Given the description of an element on the screen output the (x, y) to click on. 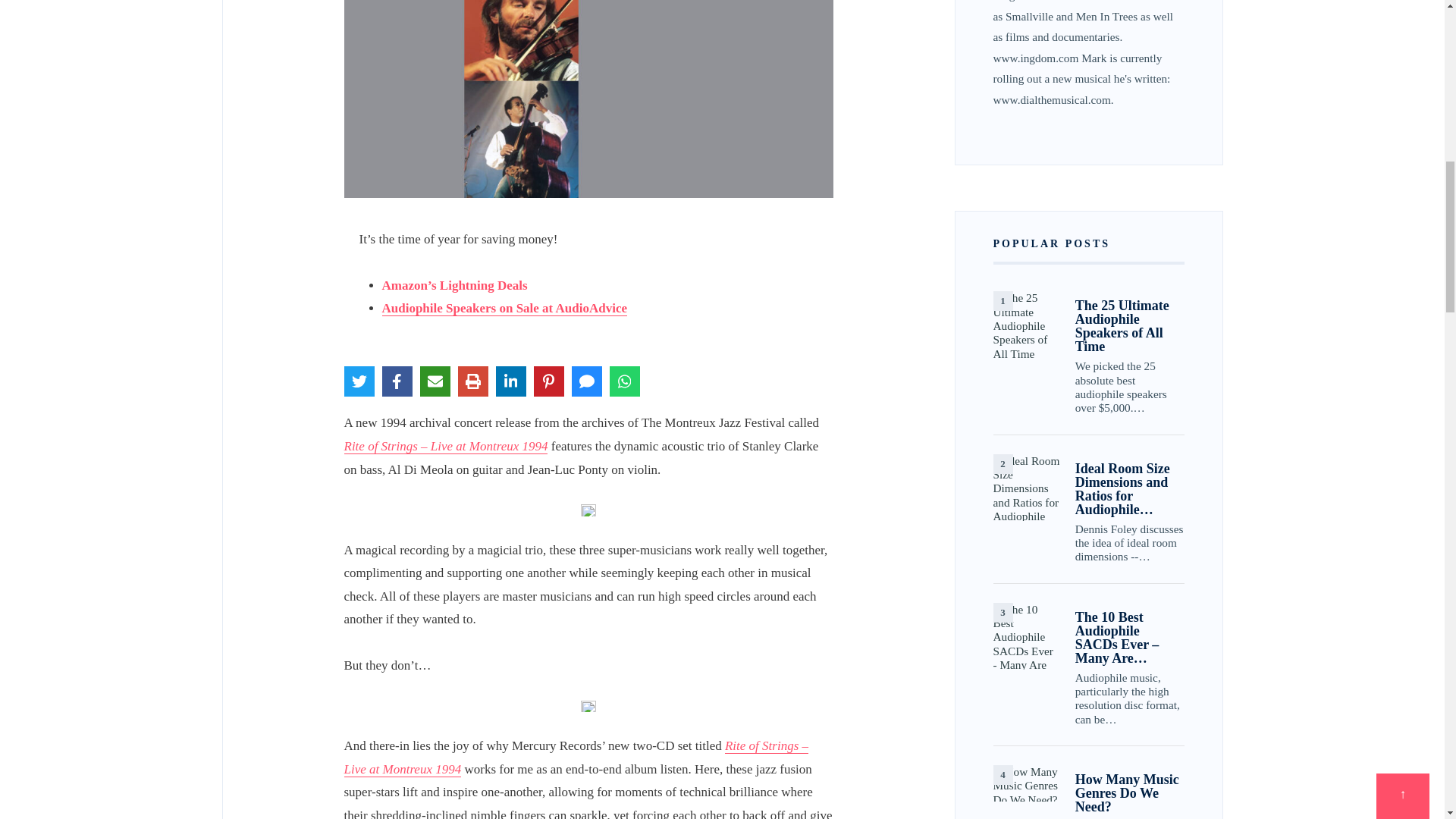
Scroll to top (1402, 1)
The 10 Best Audiophile SACDs Ever - Many Are Out Of Print (1025, 635)
How Many Music Genres Do We Need? (1025, 782)
Audiophile Speakers on Sale at AudioAdvice (504, 308)
The 25 Ultimate Audiophile Speakers of All Time (1025, 324)
